Given the description of an element on the screen output the (x, y) to click on. 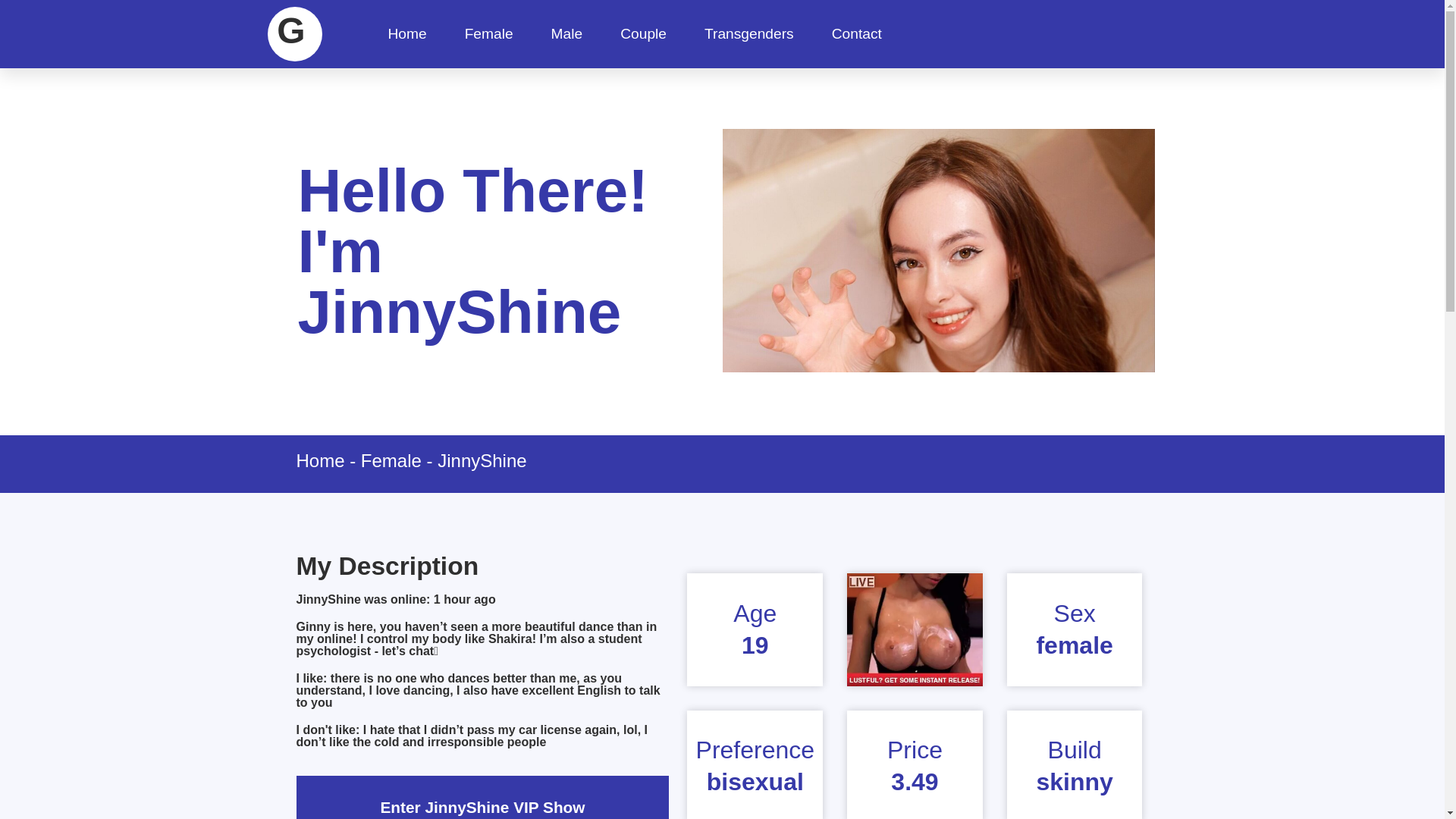
Female (391, 460)
Transgenders (748, 33)
Transgenders (748, 33)
Home (319, 460)
Enter JinnyShine VIP Show (482, 806)
